Given the description of an element on the screen output the (x, y) to click on. 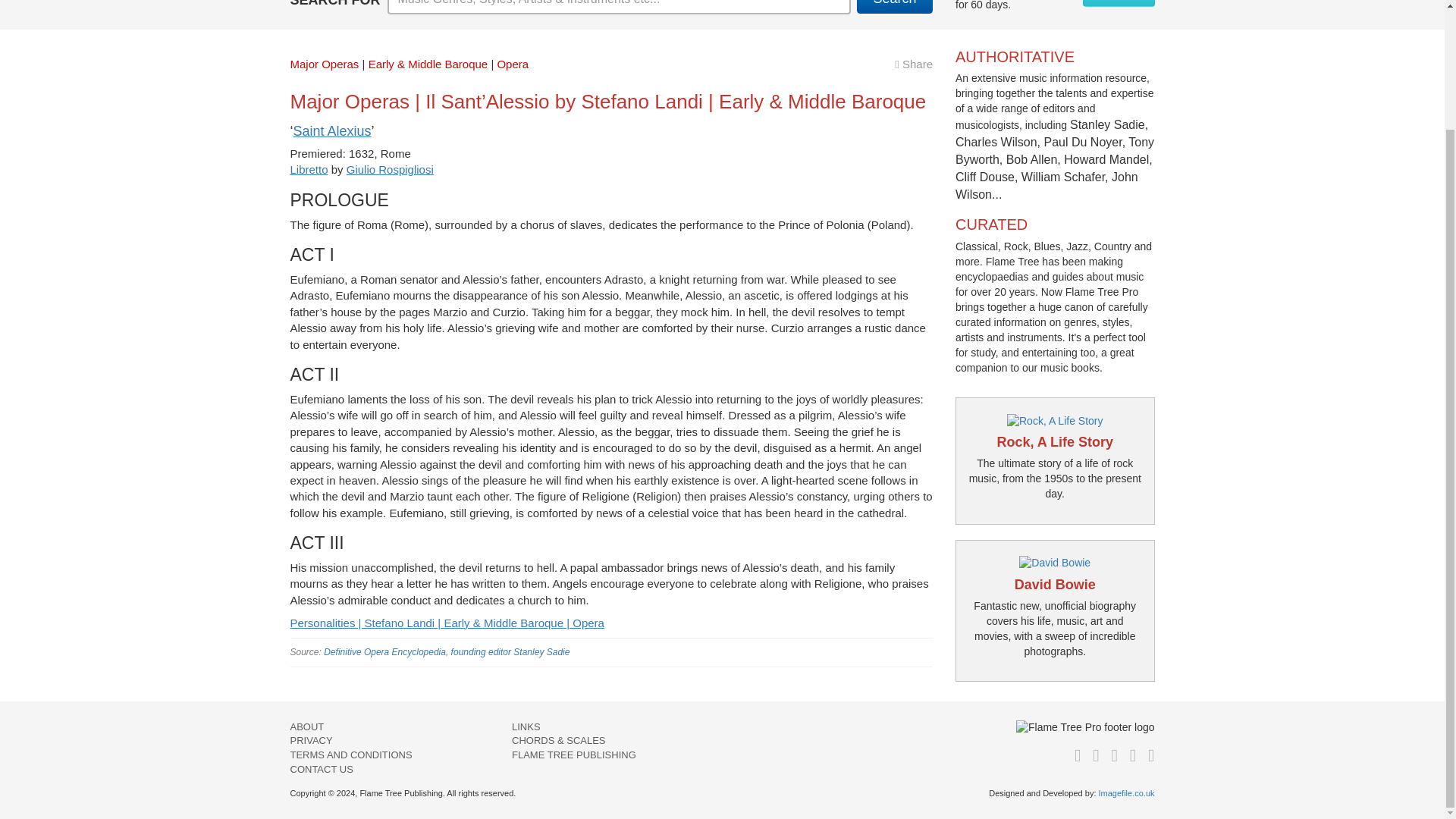
Major Operas (323, 63)
Rock, A Life Story (1054, 441)
LINKS (526, 726)
Share (914, 63)
Opera (512, 63)
FLAME TREE PUBLISHING (574, 754)
Register Now (1118, 3)
TERMS AND CONDITIONS (350, 754)
CONTACT US (320, 768)
Saint Alexius (331, 130)
